Given the description of an element on the screen output the (x, y) to click on. 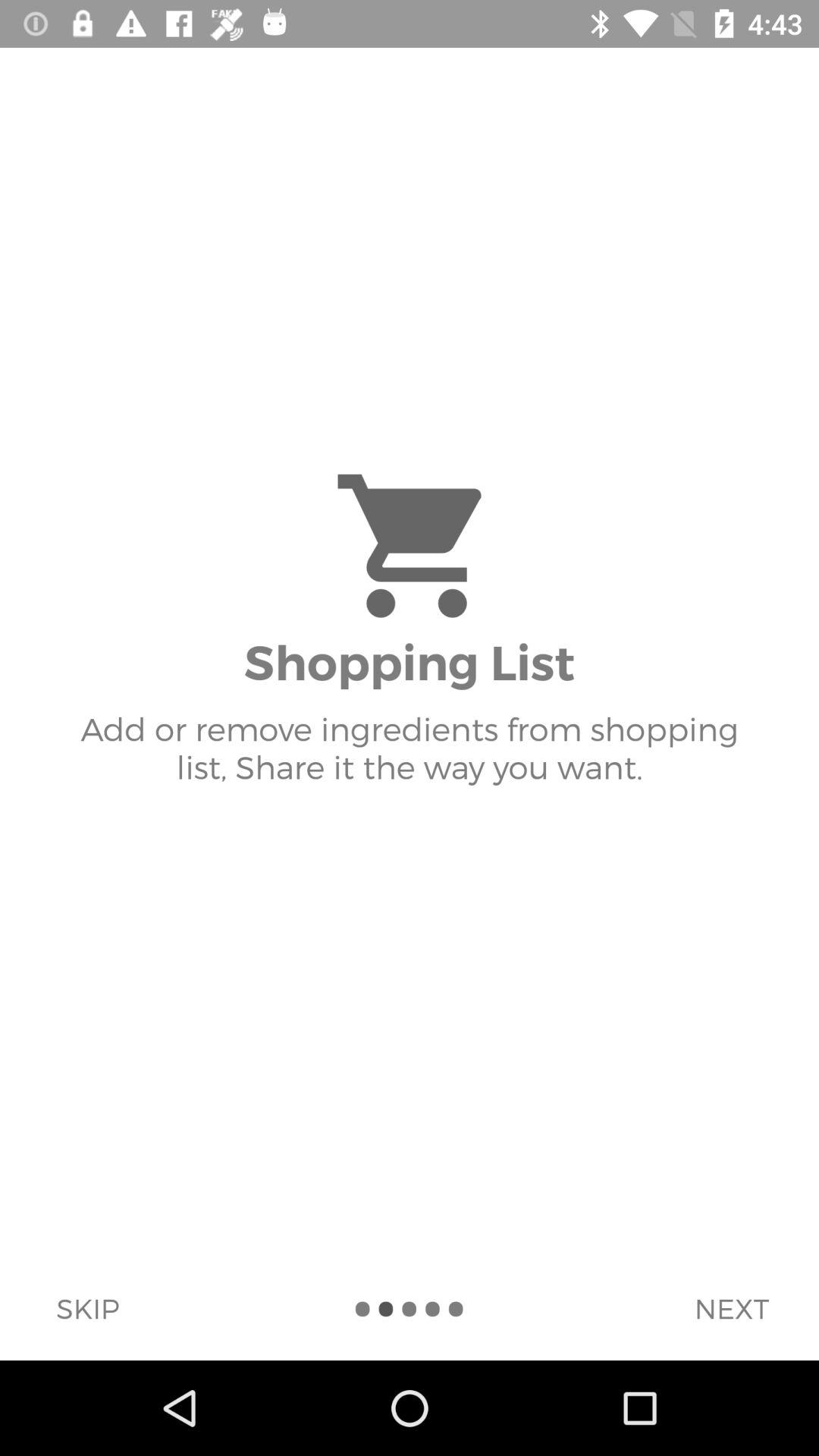
select next at the bottom right corner (731, 1308)
